Given the description of an element on the screen output the (x, y) to click on. 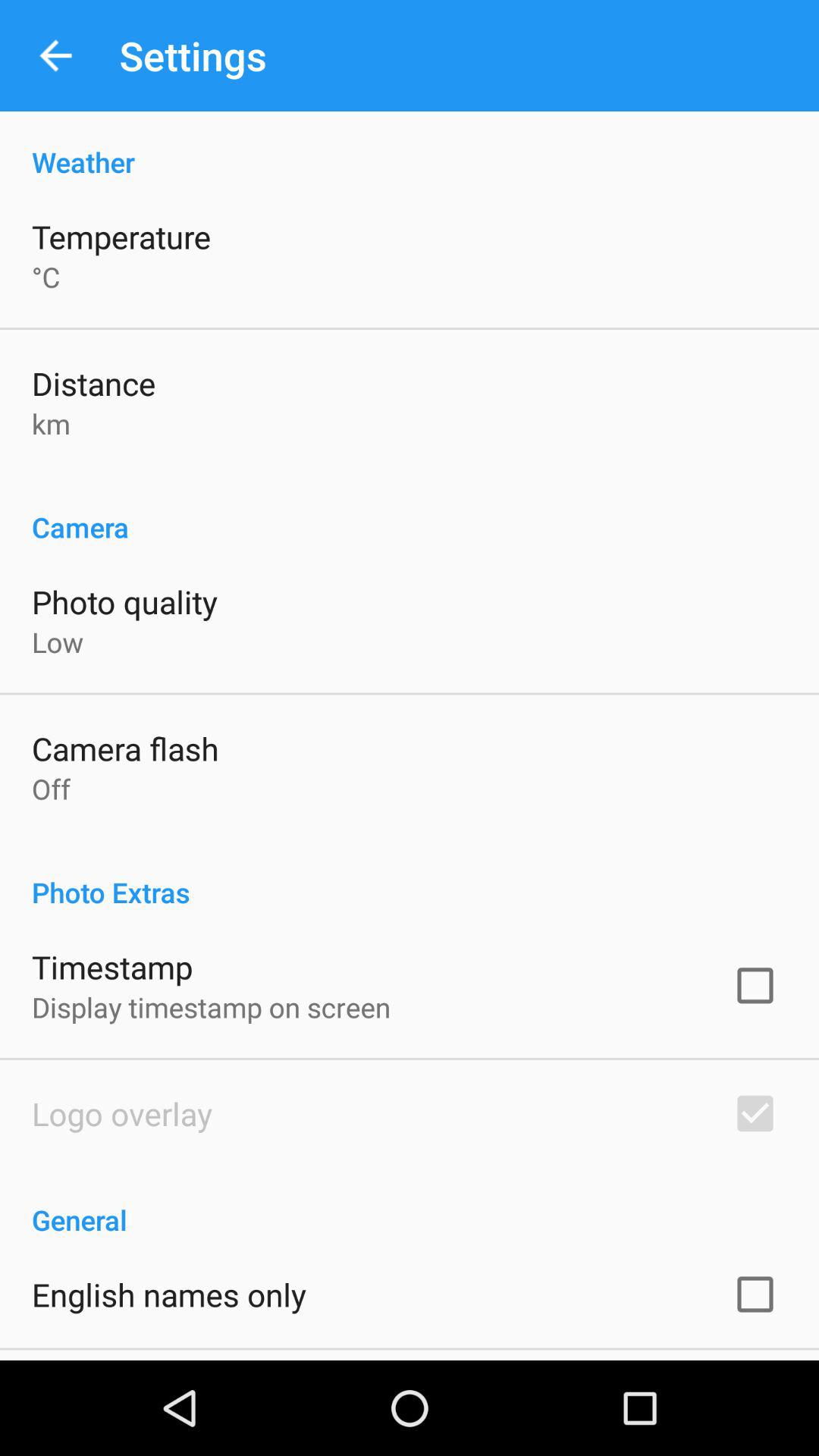
click the item below the camera app (124, 601)
